Given the description of an element on the screen output the (x, y) to click on. 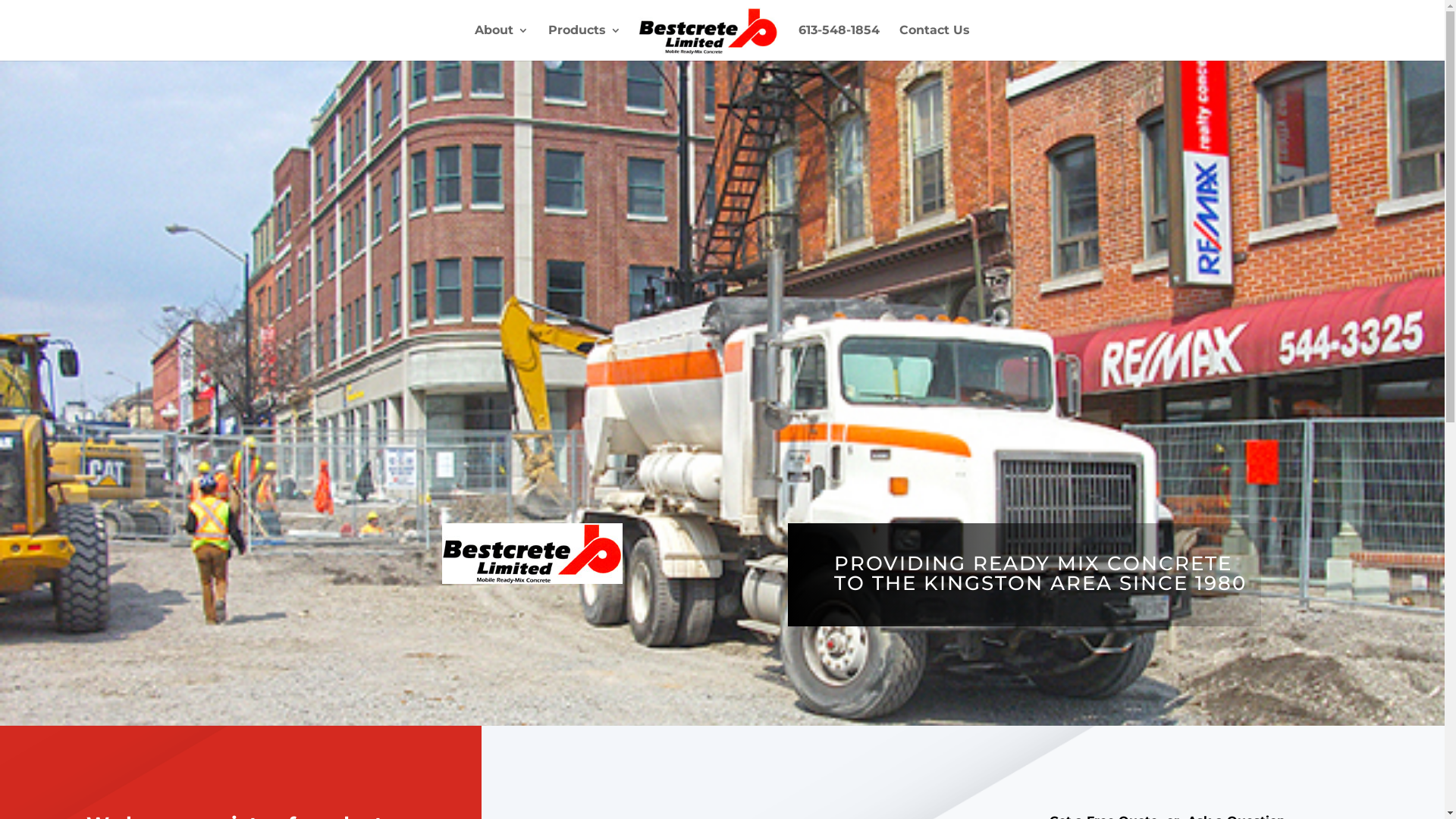
Products Element type: text (584, 42)
613-548-1854 Element type: text (838, 42)
Contact Us Element type: text (934, 42)
About Element type: text (501, 42)
